Given the description of an element on the screen output the (x, y) to click on. 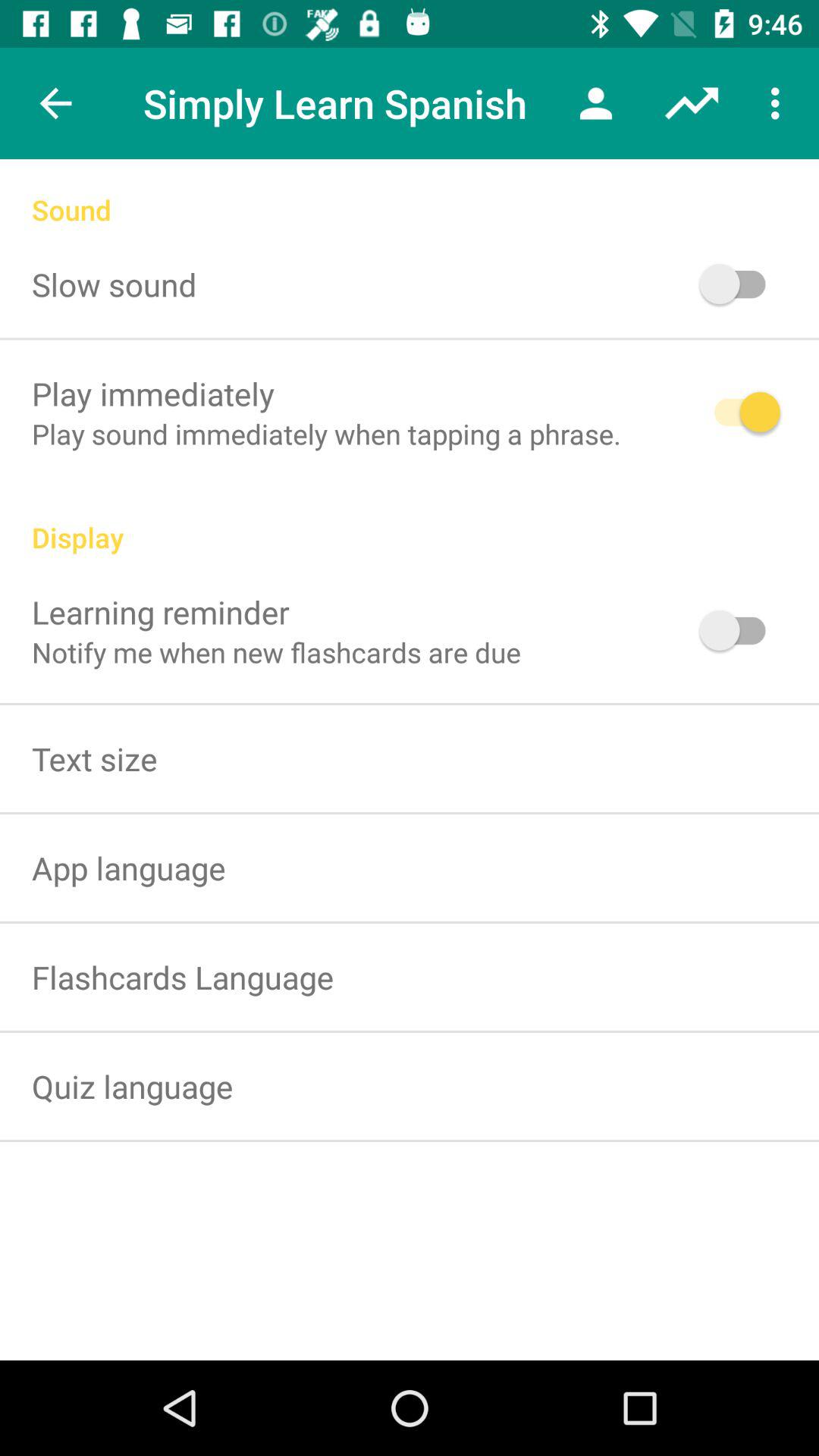
launch item below text size icon (128, 867)
